Given the description of an element on the screen output the (x, y) to click on. 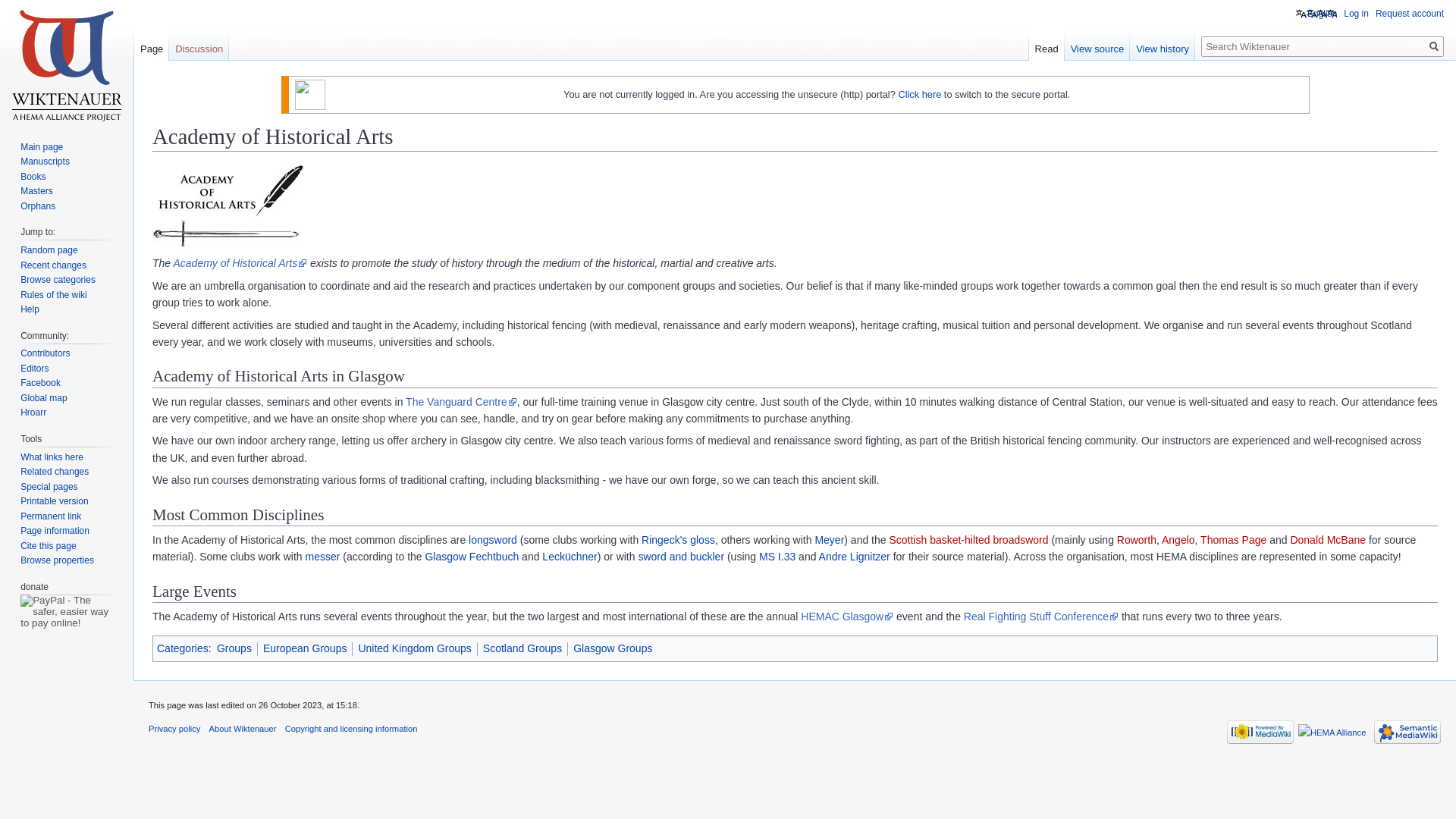
Click here (919, 93)
sword and buckler (680, 556)
Ringeck's gloss (678, 539)
Real Fighting Stuff Conference (1040, 616)
Groups (233, 648)
Go (1433, 46)
longsword (492, 539)
Scottish basket-hilted broadsword (968, 539)
Sigmund Ain ringeck (678, 539)
Category:European Groups (305, 648)
Roworth (1136, 539)
Sword and Buckler (680, 556)
HEMAC Glasgow (846, 616)
Glasgow Fechtbuch (471, 556)
